Given the description of an element on the screen output the (x, y) to click on. 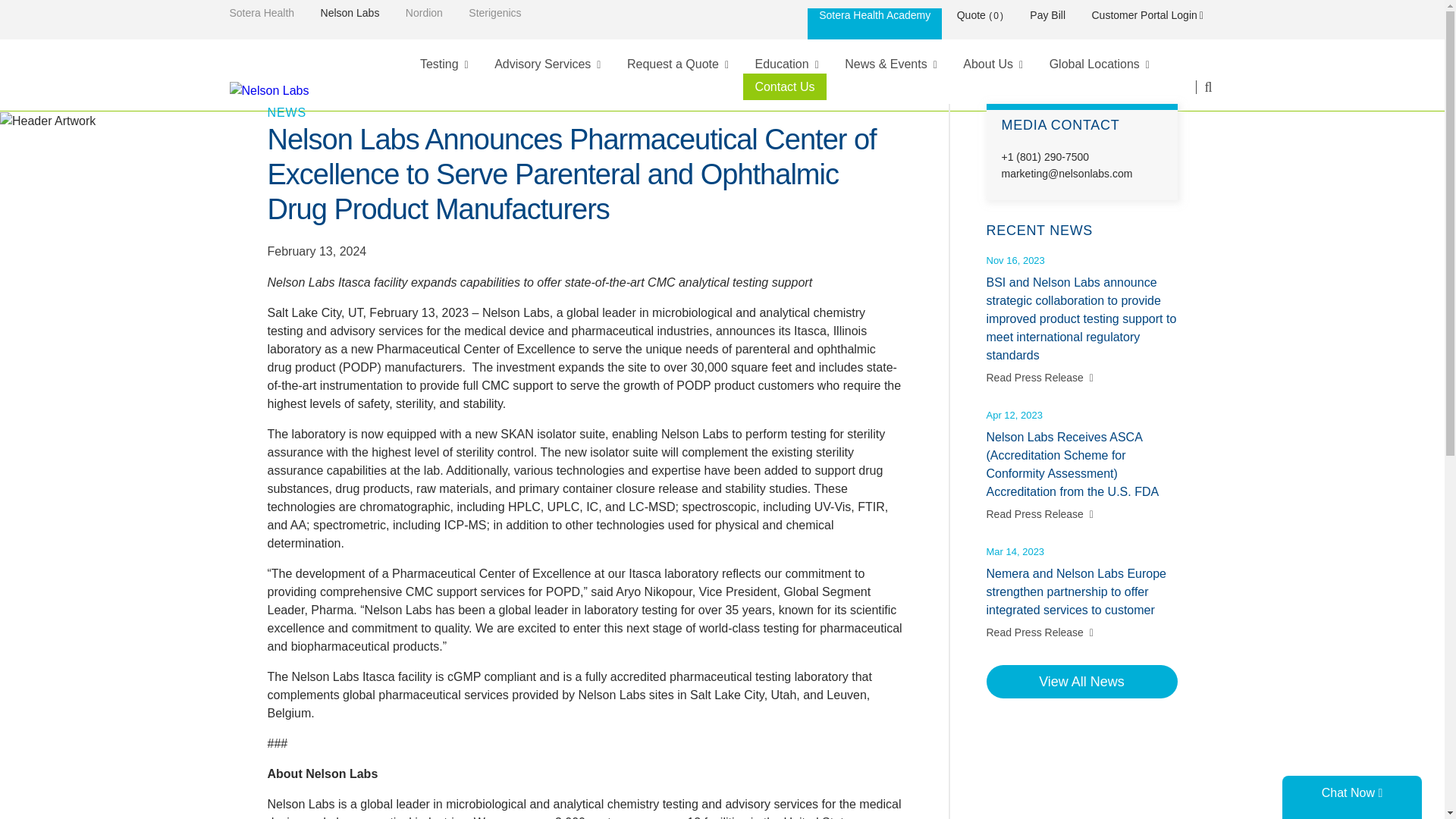
Quote (970, 15)
Request a Quote (677, 63)
Education (785, 63)
Sotera Health Academy (875, 23)
Advisory Services (547, 63)
Nordion (424, 12)
Sterigenics (494, 12)
Testing (444, 63)
Pay Bill (1047, 15)
Nelson Labs (350, 12)
Sotera Health (261, 12)
Customer Portal Login (1148, 15)
